Given the description of an element on the screen output the (x, y) to click on. 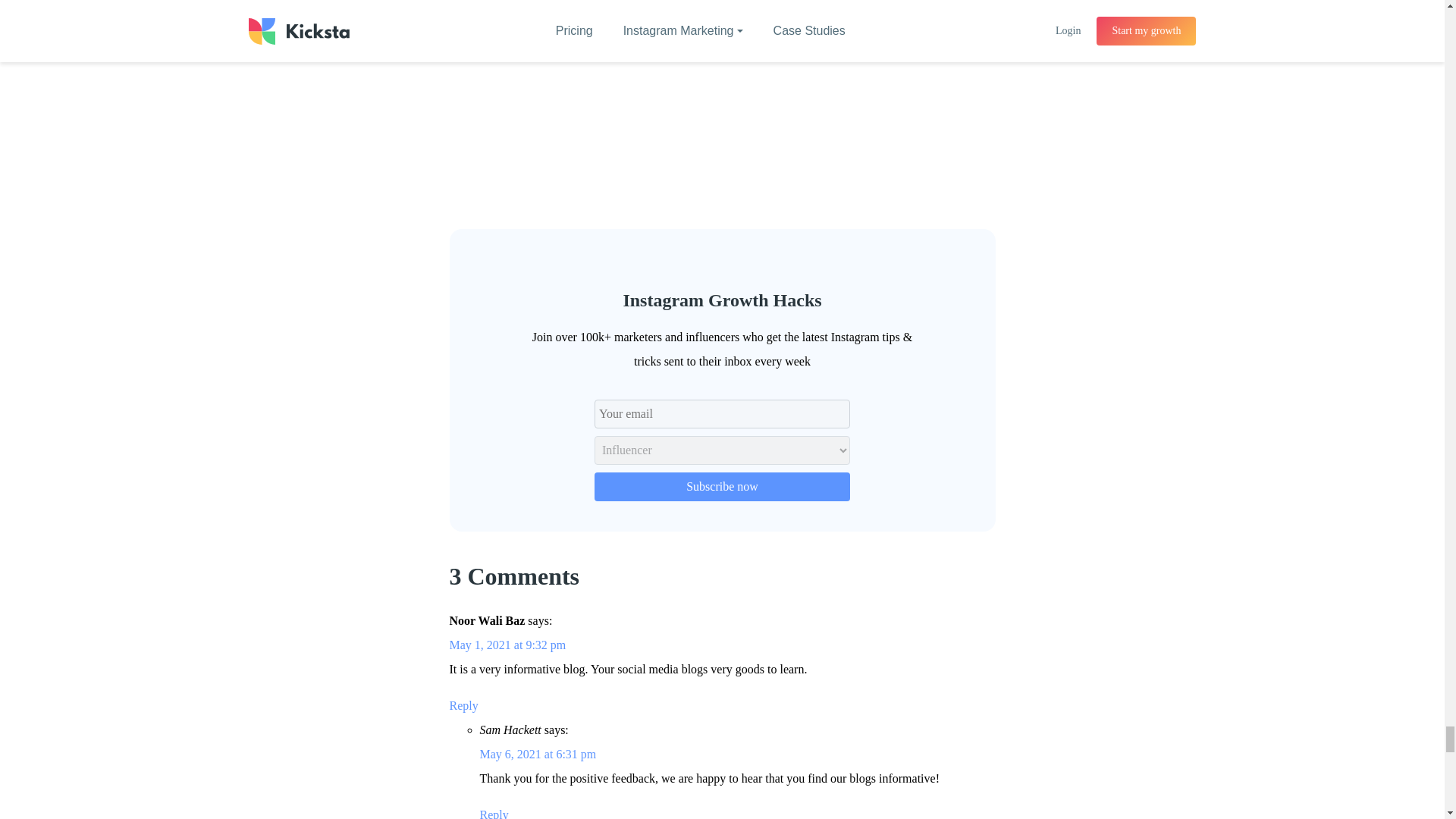
Subscribe now (722, 485)
